Given the description of an element on the screen output the (x, y) to click on. 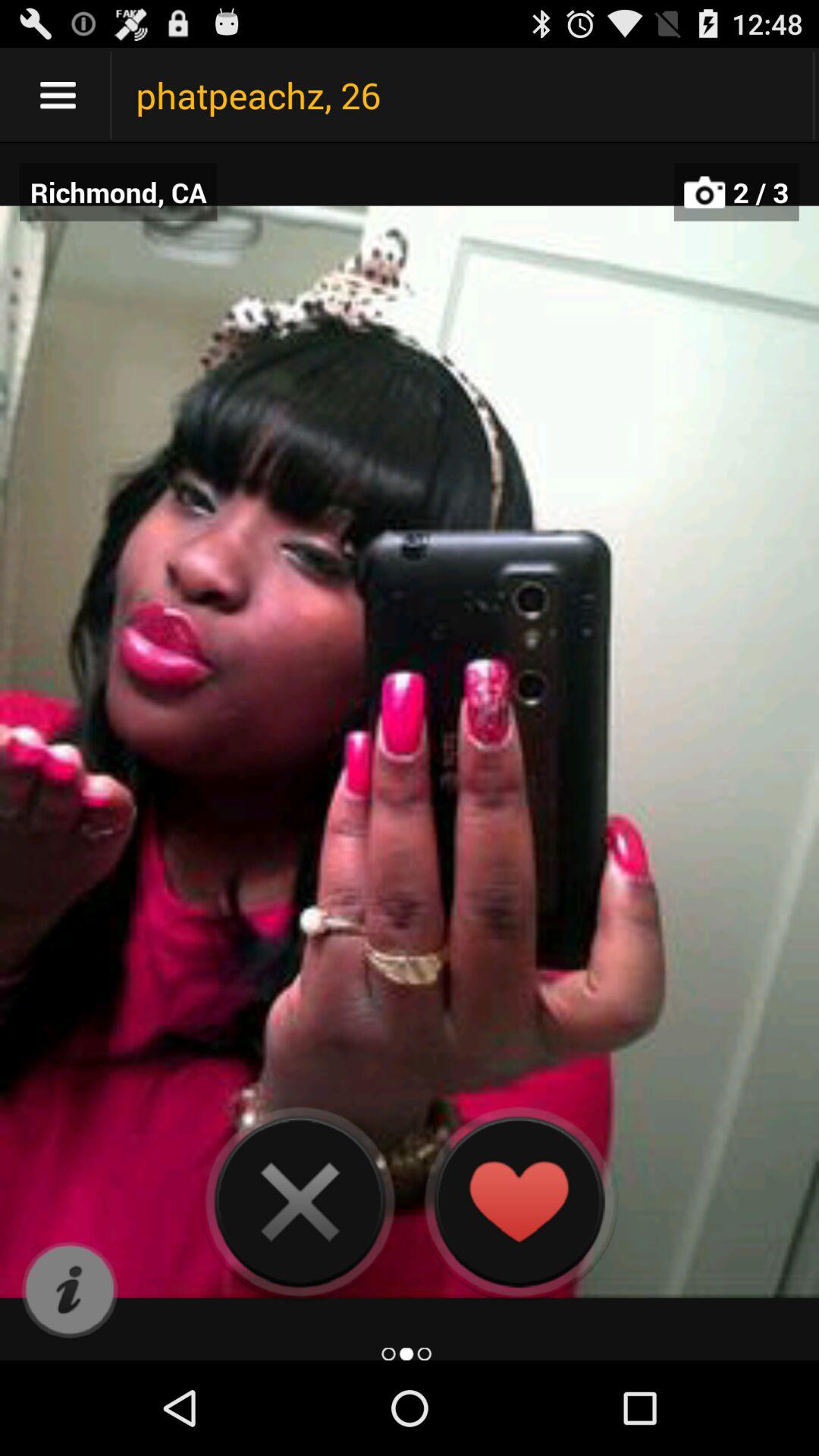
like the photo (518, 1200)
